Given the description of an element on the screen output the (x, y) to click on. 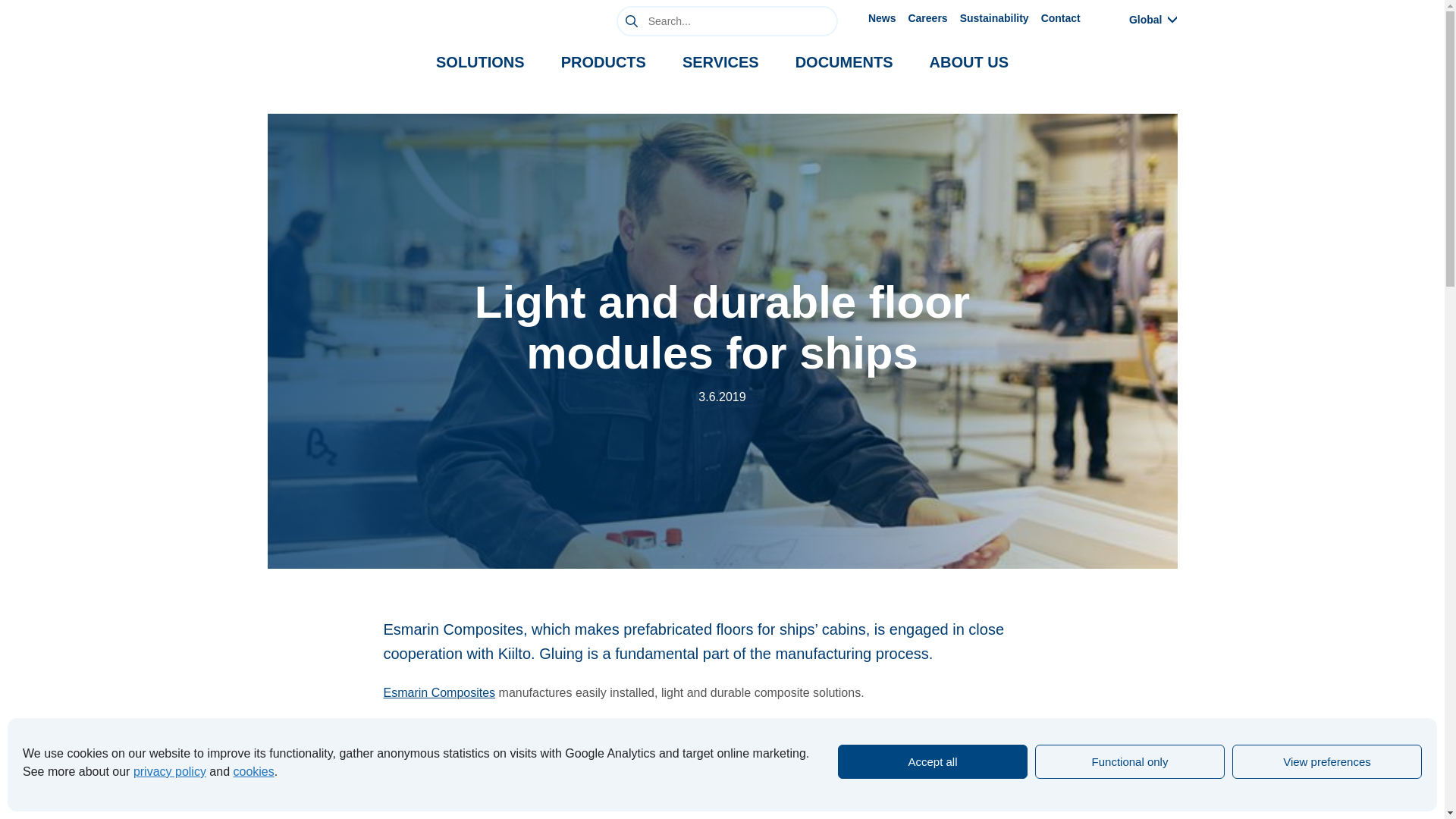
View preferences (1326, 761)
Accept all (932, 761)
Functional only (1129, 761)
cookies (253, 771)
Search for: (726, 20)
privacy policy (169, 771)
